Given the description of an element on the screen output the (x, y) to click on. 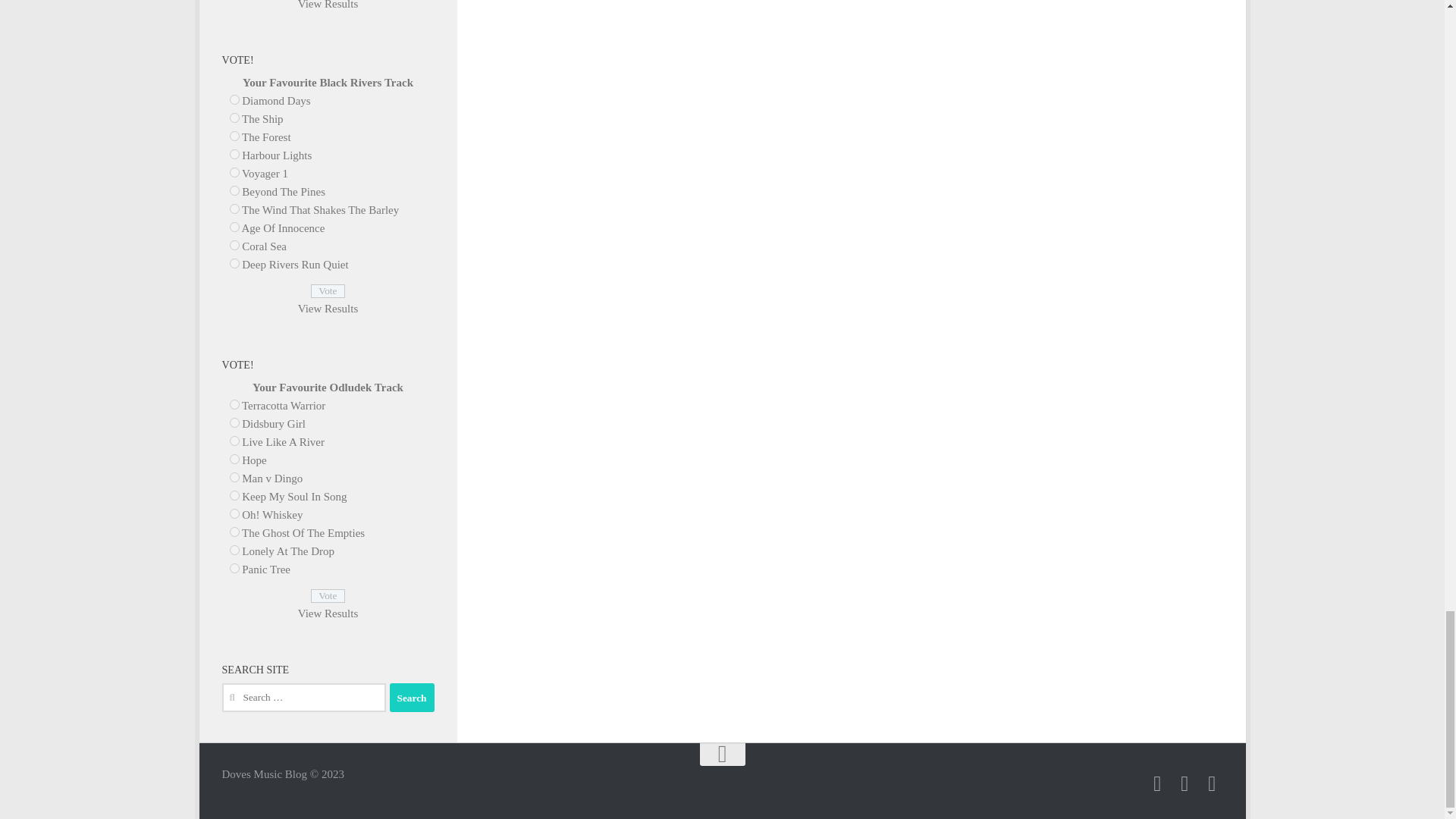
View Results Of This Poll (328, 308)
View Results Of This Poll (328, 613)
Search (411, 697)
View Results Of This Poll (328, 4)
Follow us on Instagram (1184, 783)
Follow us on Twitter (1212, 783)
